Given the description of an element on the screen output the (x, y) to click on. 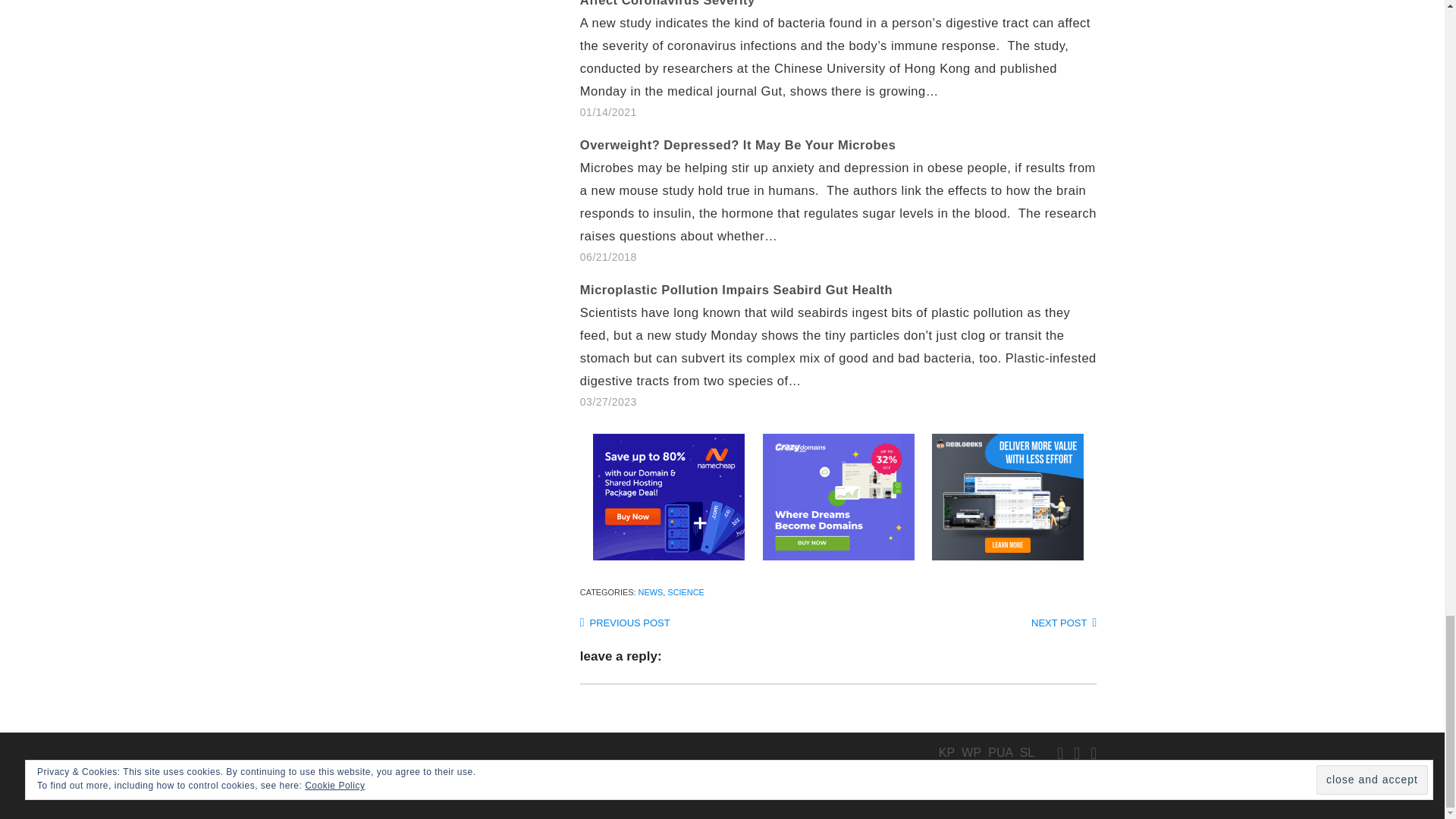
Microplastic Pollution Impairs Seabird Gut Health (735, 289)
PREVIOUS POST (624, 622)
SCIENCE (684, 592)
Overweight? Depressed? It May Be Your Microbes (737, 144)
Overweight? Depressed? It May Be Your Microbes (845, 200)
Overweight? Depressed? It May Be Your Microbes (737, 144)
Microplastic Pollution Impairs Seabird Gut Health (845, 345)
Microplastic Pollution Impairs Seabird Gut Health (735, 289)
NEWS (651, 592)
NEXT POST (1063, 622)
